Given the description of an element on the screen output the (x, y) to click on. 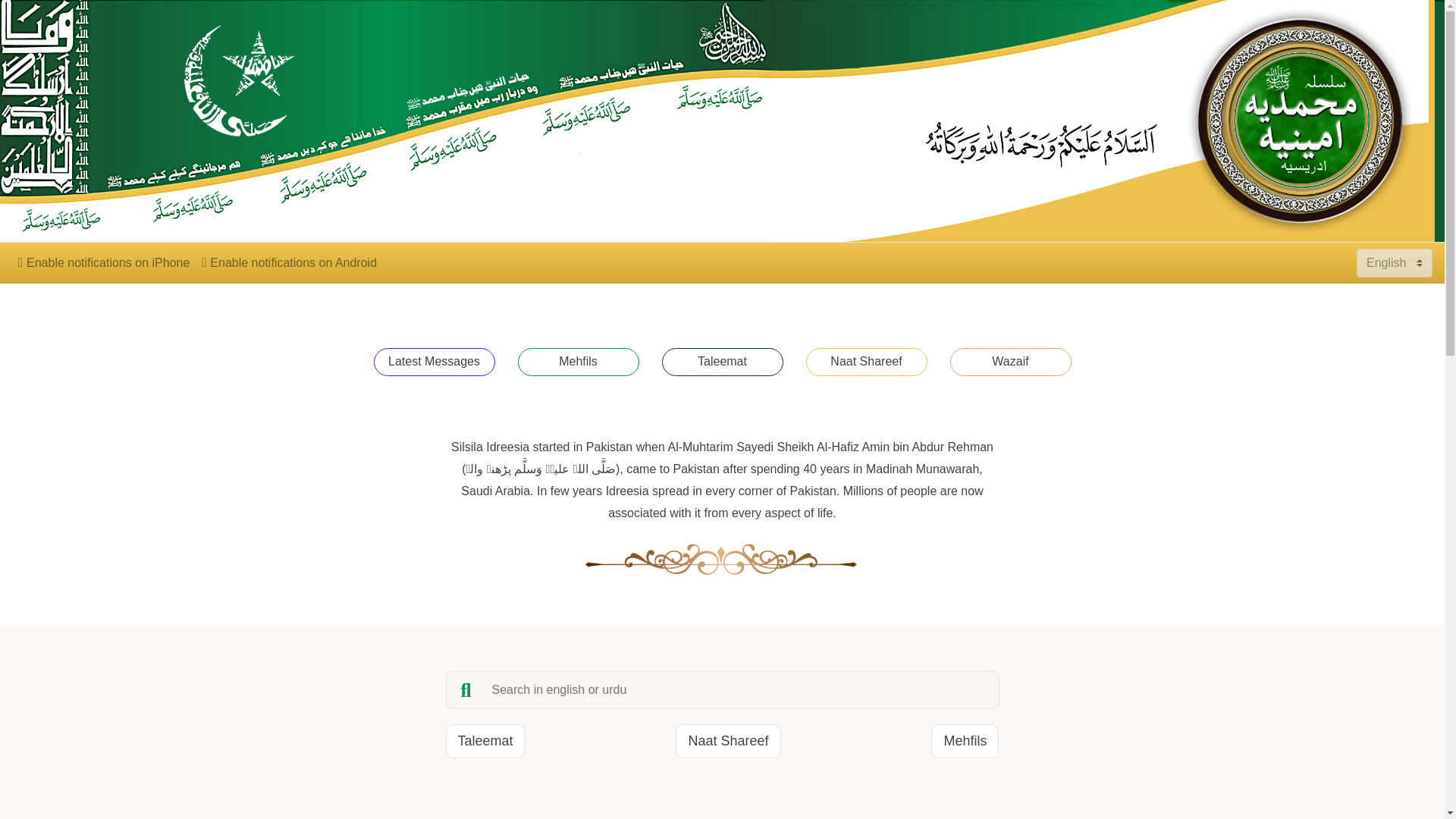
Latest Messages (433, 361)
Taleemat (485, 740)
Naat Shareef (727, 740)
Enable notifications on iPhone (103, 263)
Taleemat (722, 361)
Mehfils (964, 740)
Naat Shareef (865, 361)
Wazaif (1009, 361)
Enable notifications on Android (288, 263)
Mehfils (577, 361)
